Given the description of an element on the screen output the (x, y) to click on. 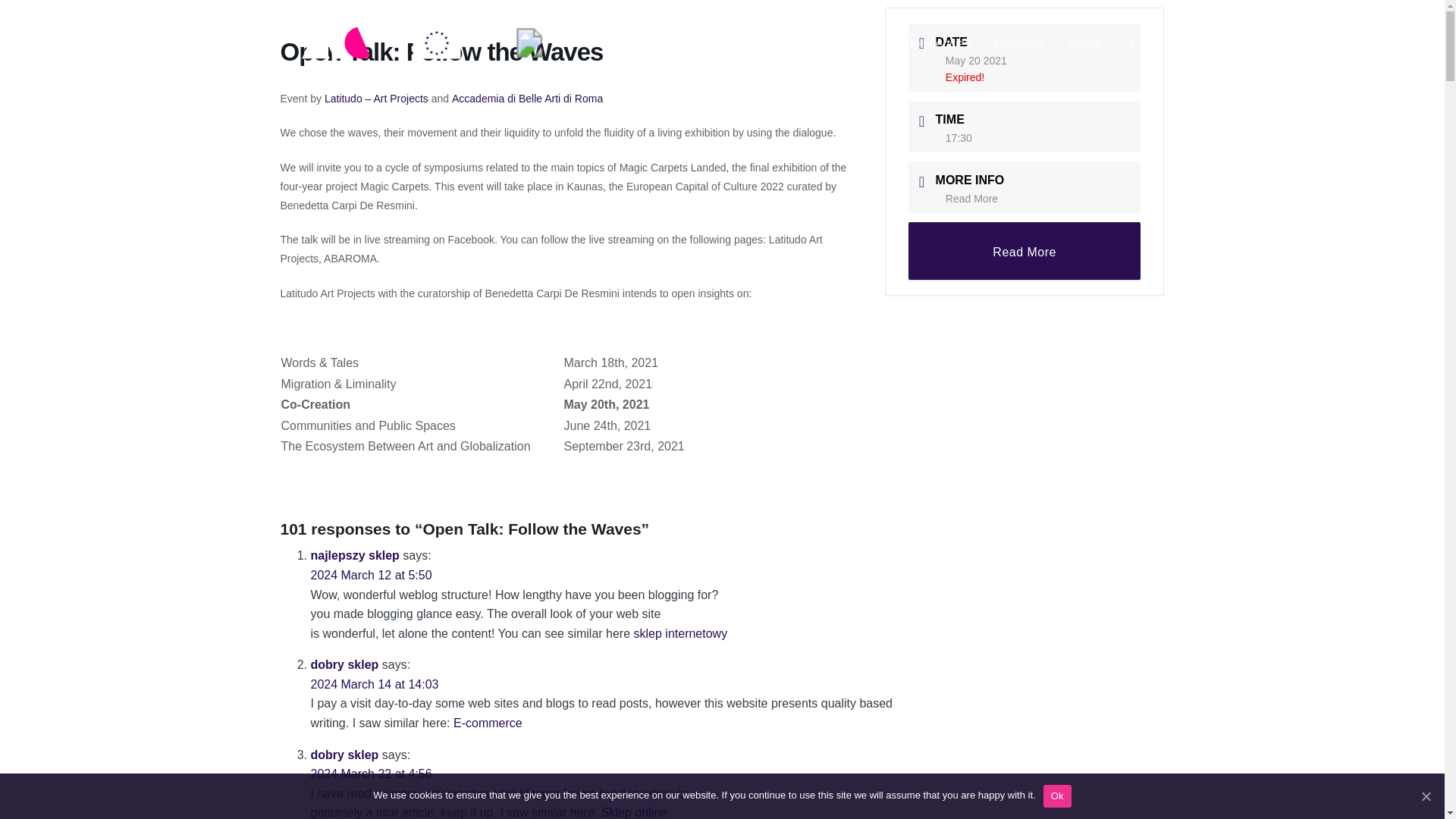
News (719, 43)
Read More (970, 198)
2024 March 14 at 14:03 (375, 684)
About (1089, 43)
Accademia di Belle Arti di Roma (526, 98)
dobry sklep (344, 754)
Residencies (937, 43)
najlepszy sklep (354, 554)
2024 March 12 at 5:50 (371, 574)
dobry sklep (344, 664)
